Given the description of an element on the screen output the (x, y) to click on. 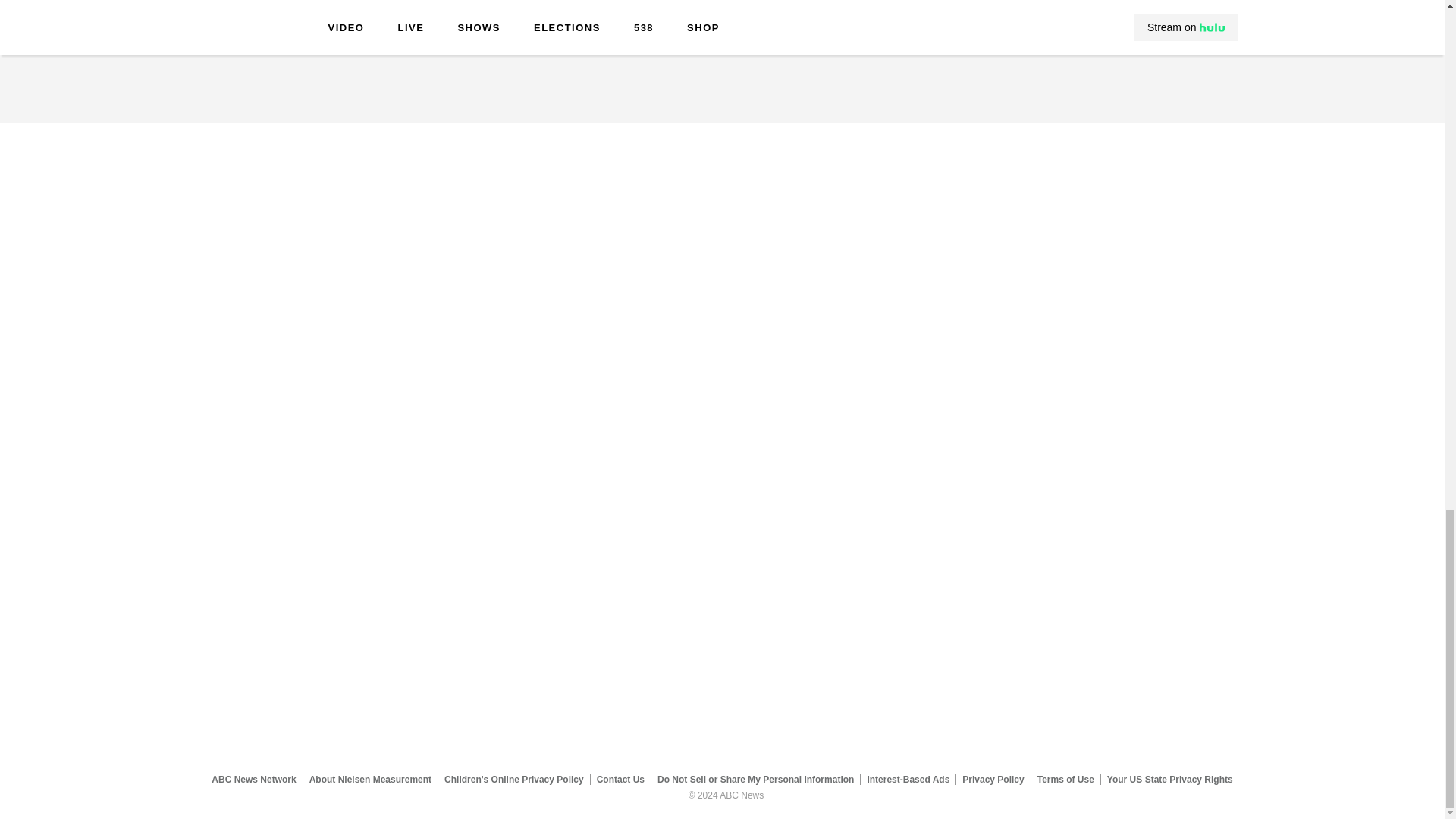
ABC News Network (253, 778)
Contact Us (620, 778)
Do Not Sell or Share My Personal Information (755, 778)
Interest-Based Ads (908, 778)
Terms of Use (1065, 778)
Children's Online Privacy Policy (514, 778)
Privacy Policy (993, 778)
About Nielsen Measurement (370, 778)
Your US State Privacy Rights (1169, 778)
